Given the description of an element on the screen output the (x, y) to click on. 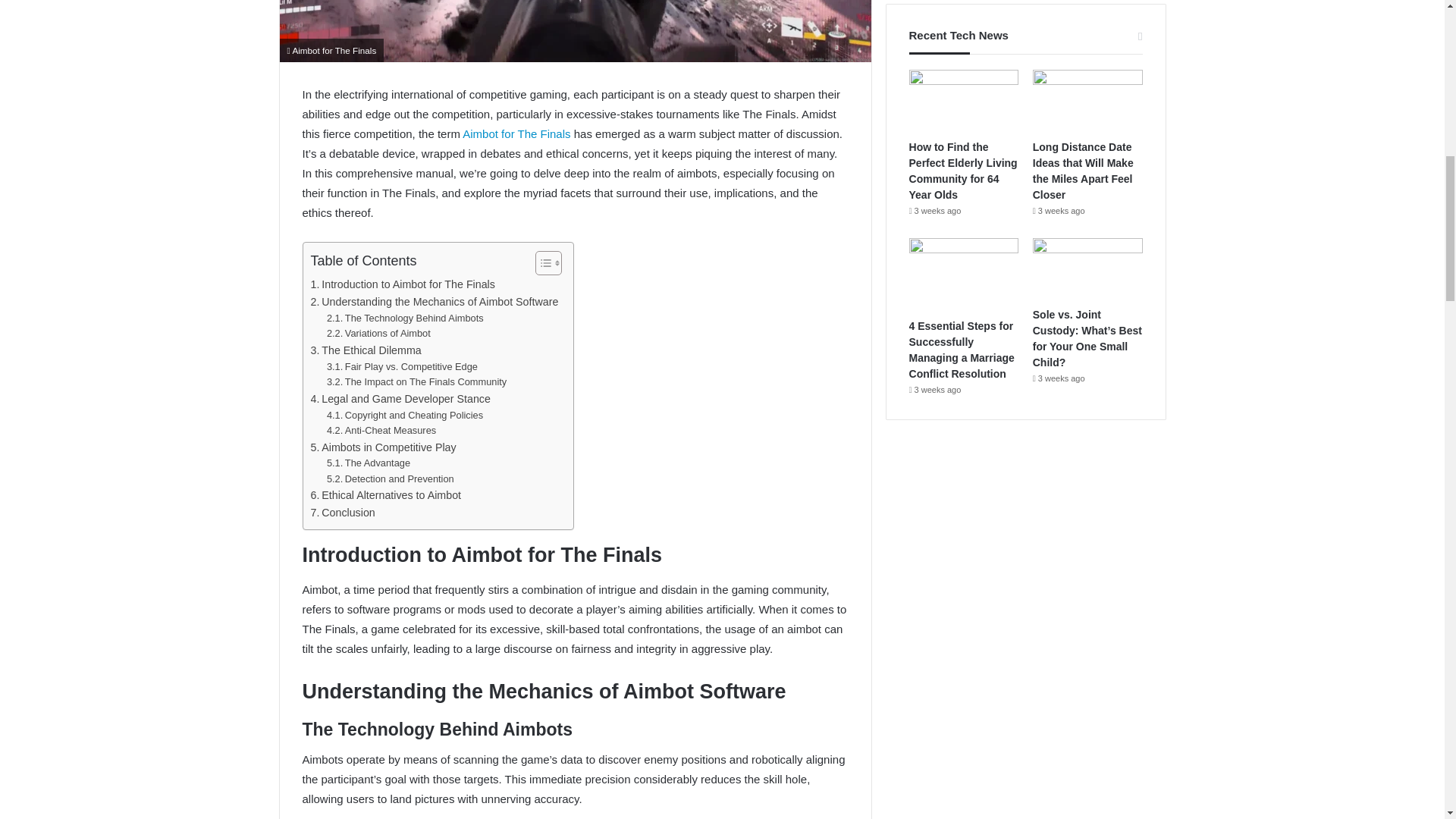
Legal and Game Developer Stance (400, 398)
Aimbots in Competitive Play (384, 447)
Aimbot for The Finals (516, 133)
Variations of Aimbot (378, 333)
The Advantage (368, 463)
Anti-Cheat Measures (380, 430)
The Ethical Dilemma (366, 350)
Introduction to Aimbot for The Finals (403, 284)
Copyright and Cheating Policies (404, 415)
Introduction to Aimbot for The Finals (403, 284)
